Given the description of an element on the screen output the (x, y) to click on. 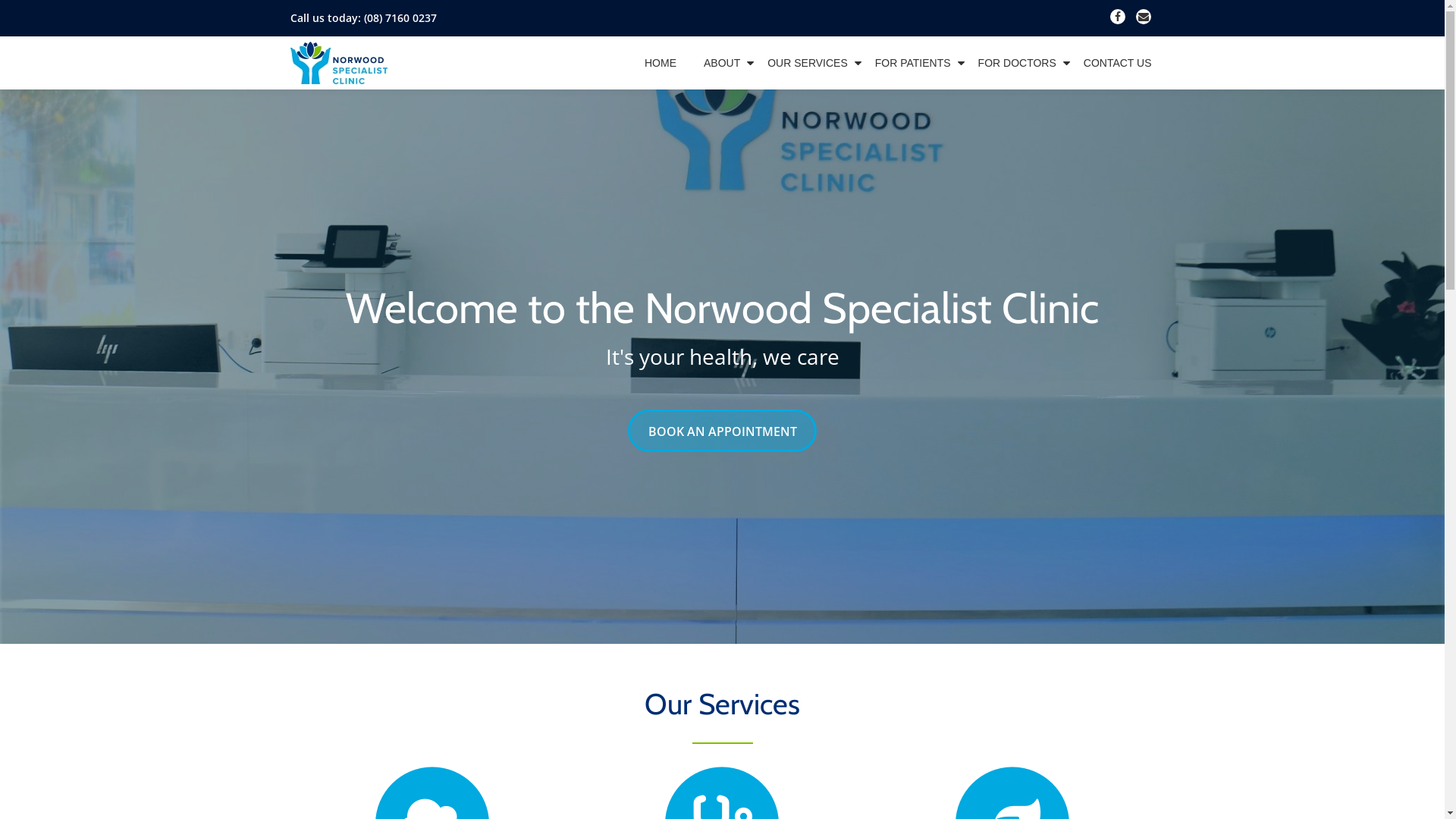
CONTACT US Element type: text (1117, 62)
(08) 7160 0237 Element type: text (400, 17)
FOR PATIENTS Element type: text (912, 62)
FOR DOCTORS Element type: text (1017, 62)
OUR SERVICES Element type: text (807, 62)
fa-facebook Element type: text (1117, 19)
fa-envelope Element type: text (1143, 19)
ABOUT Element type: text (721, 62)
HOME Element type: text (660, 62)
Norwood Specialist Clinic Element type: hover (340, 62)
BOOK AN APPOINTMENT Element type: text (721, 430)
Skip to content Element type: text (0, 30)
